Given the description of an element on the screen output the (x, y) to click on. 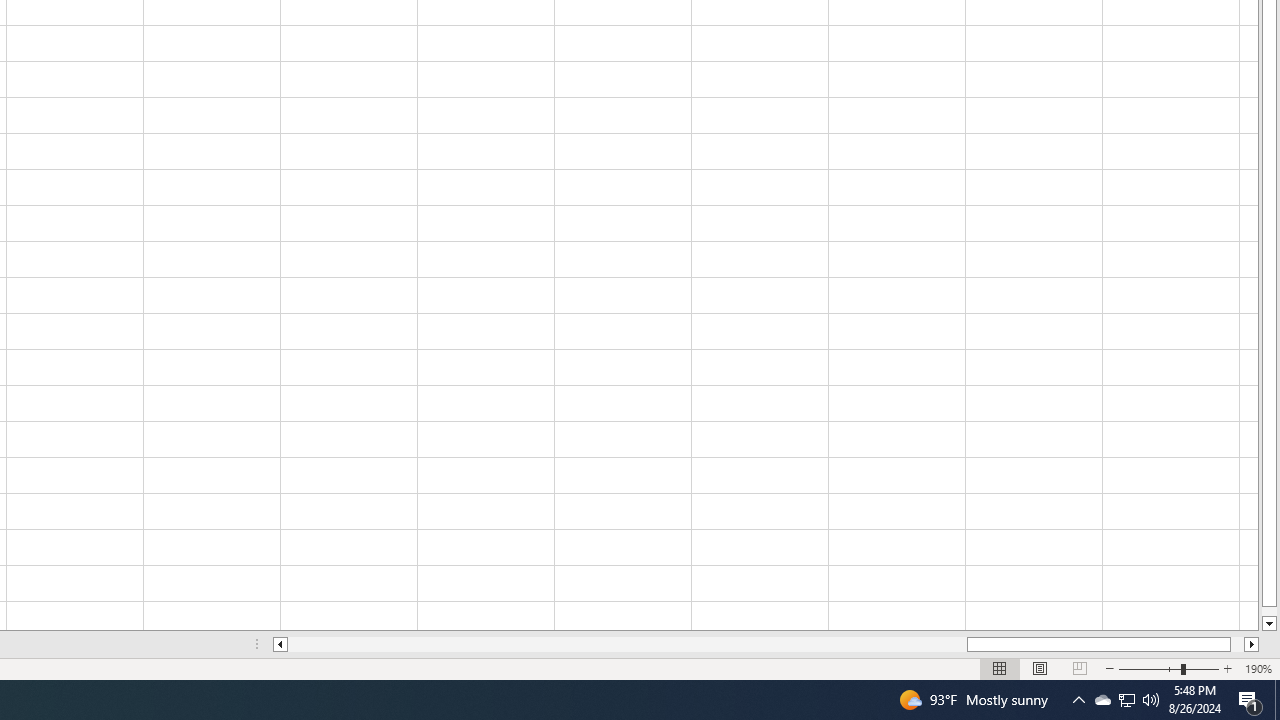
Page right (1237, 644)
Page down (1268, 611)
Page Break Preview (1079, 668)
Zoom Out (1149, 668)
Line down (1268, 624)
Column left (279, 644)
Zoom (1168, 668)
Normal (1000, 668)
Class: NetUIScrollBar (765, 644)
Zoom In (1227, 668)
Page left (627, 644)
Column right (1252, 644)
